Given the description of an element on the screen output the (x, y) to click on. 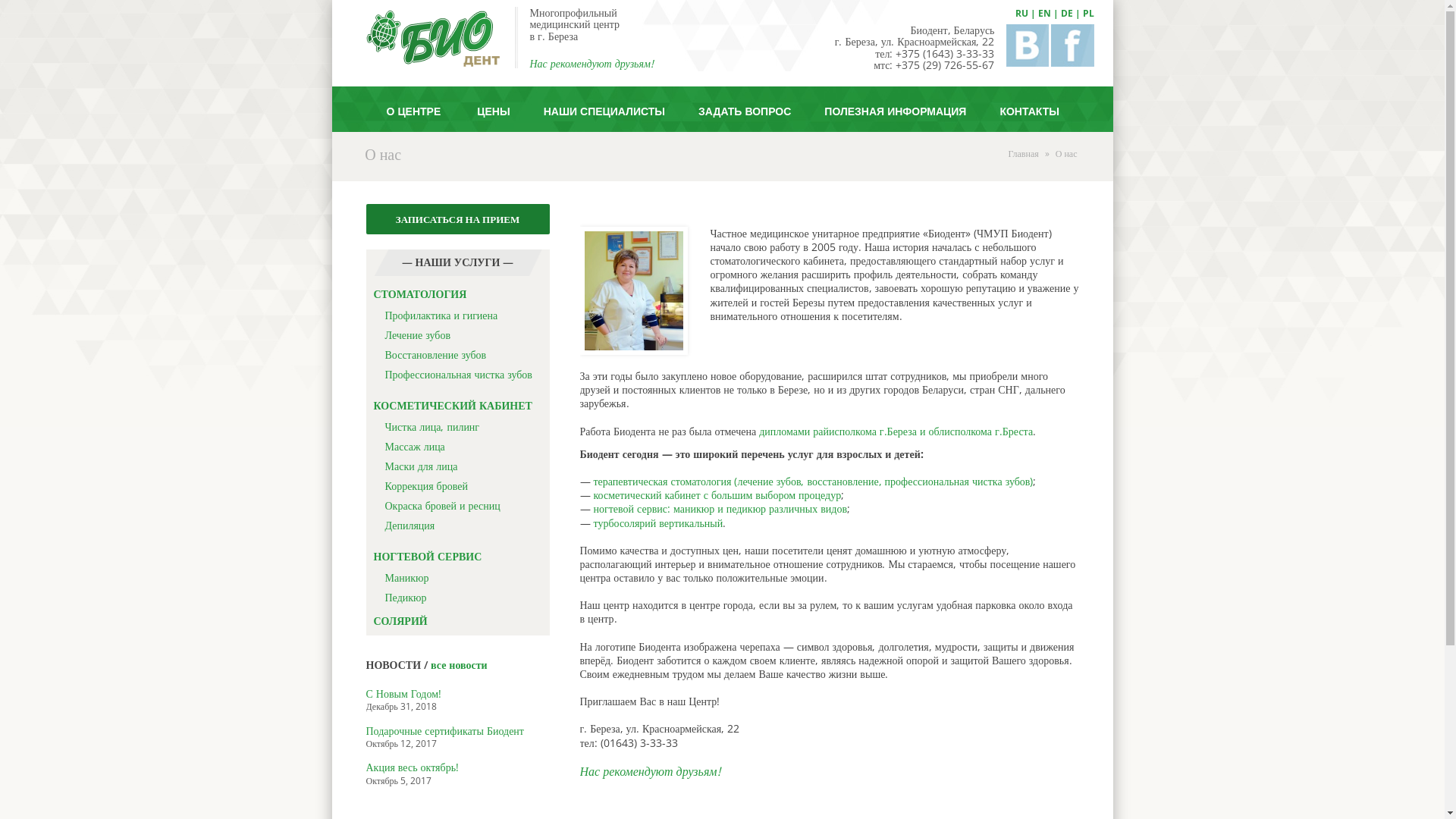
PL Element type: text (1088, 12)
RU Element type: text (1020, 12)
EN Element type: text (1043, 12)
DE Element type: text (1066, 12)
